Given the description of an element on the screen output the (x, y) to click on. 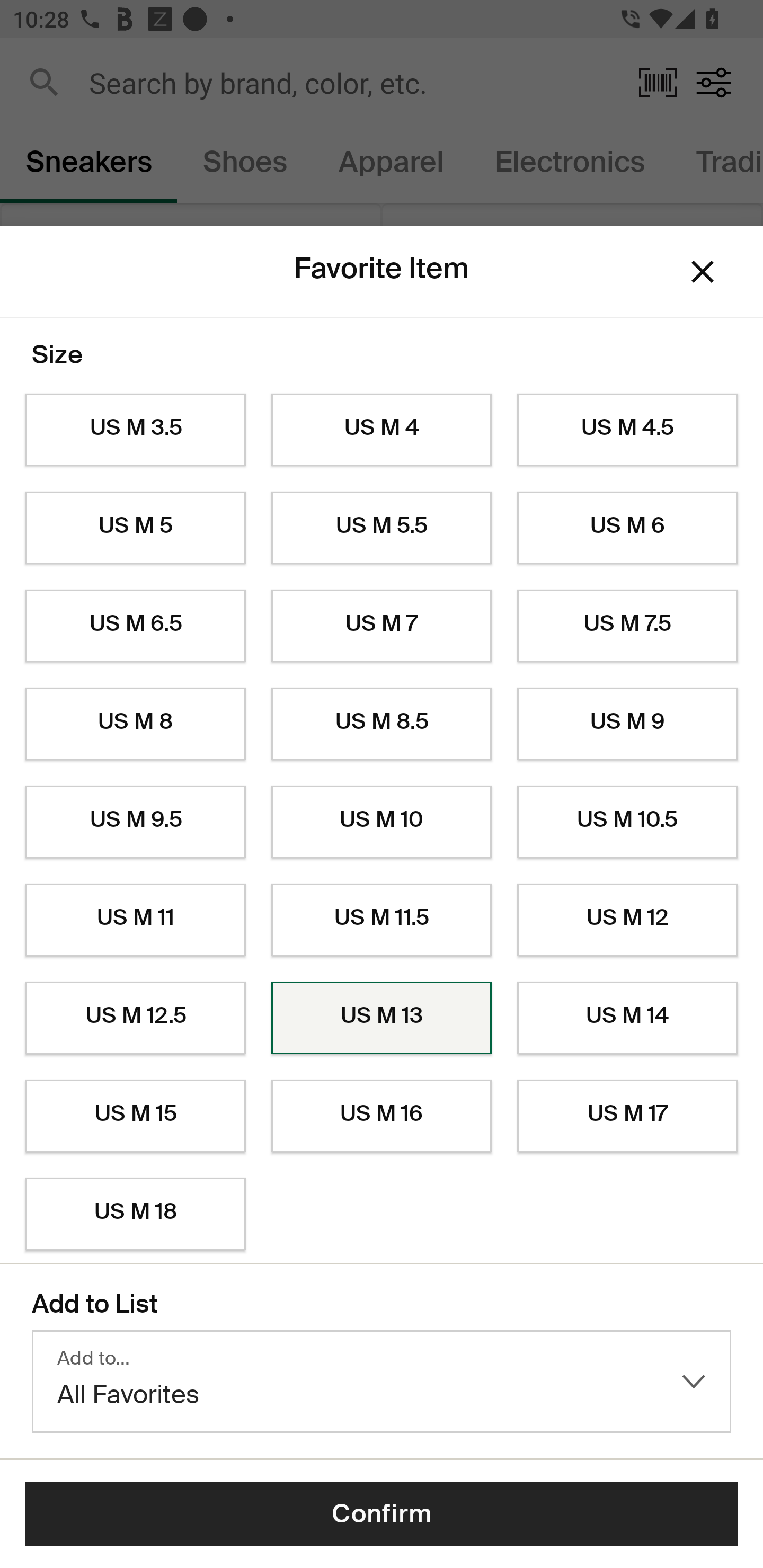
Dismiss (702, 271)
US M 3.5 (135, 430)
US M 4 (381, 430)
US M 4.5 (627, 430)
US M 5 (135, 527)
US M 5.5 (381, 527)
US M 6 (627, 527)
US M 6.5 (135, 626)
US M 7 (381, 626)
US M 7.5 (627, 626)
US M 8 (135, 724)
US M 8.5 (381, 724)
US M 9 (627, 724)
US M 9.5 (135, 822)
US M 10 (381, 822)
US M 10.5 (627, 822)
US M 11 (135, 919)
US M 11.5 (381, 919)
US M 12 (627, 919)
US M 12.5 (135, 1018)
US M 13 (381, 1018)
US M 14 (627, 1018)
US M 15 (135, 1116)
US M 16 (381, 1116)
US M 17 (627, 1116)
US M 18 (135, 1214)
Add to… All Favorites (381, 1381)
Confirm (381, 1513)
